Given the description of an element on the screen output the (x, y) to click on. 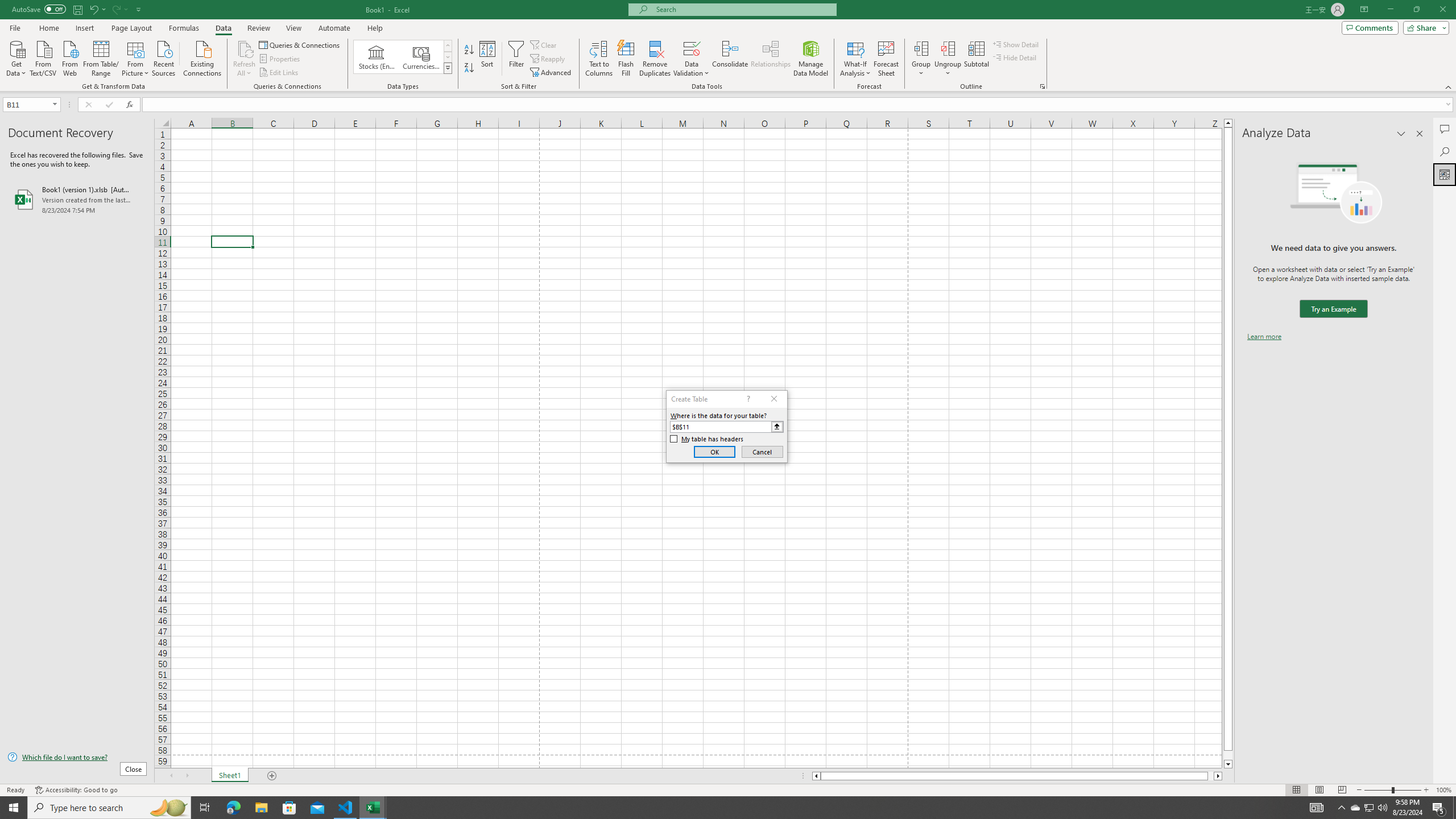
Sort... (487, 58)
Get Data (16, 57)
Queries & Connections (300, 44)
Text to Columns... (598, 58)
Manage Data Model (810, 58)
Properties (280, 58)
Reapply (548, 58)
Currencies (English) (420, 56)
